Given the description of an element on the screen output the (x, y) to click on. 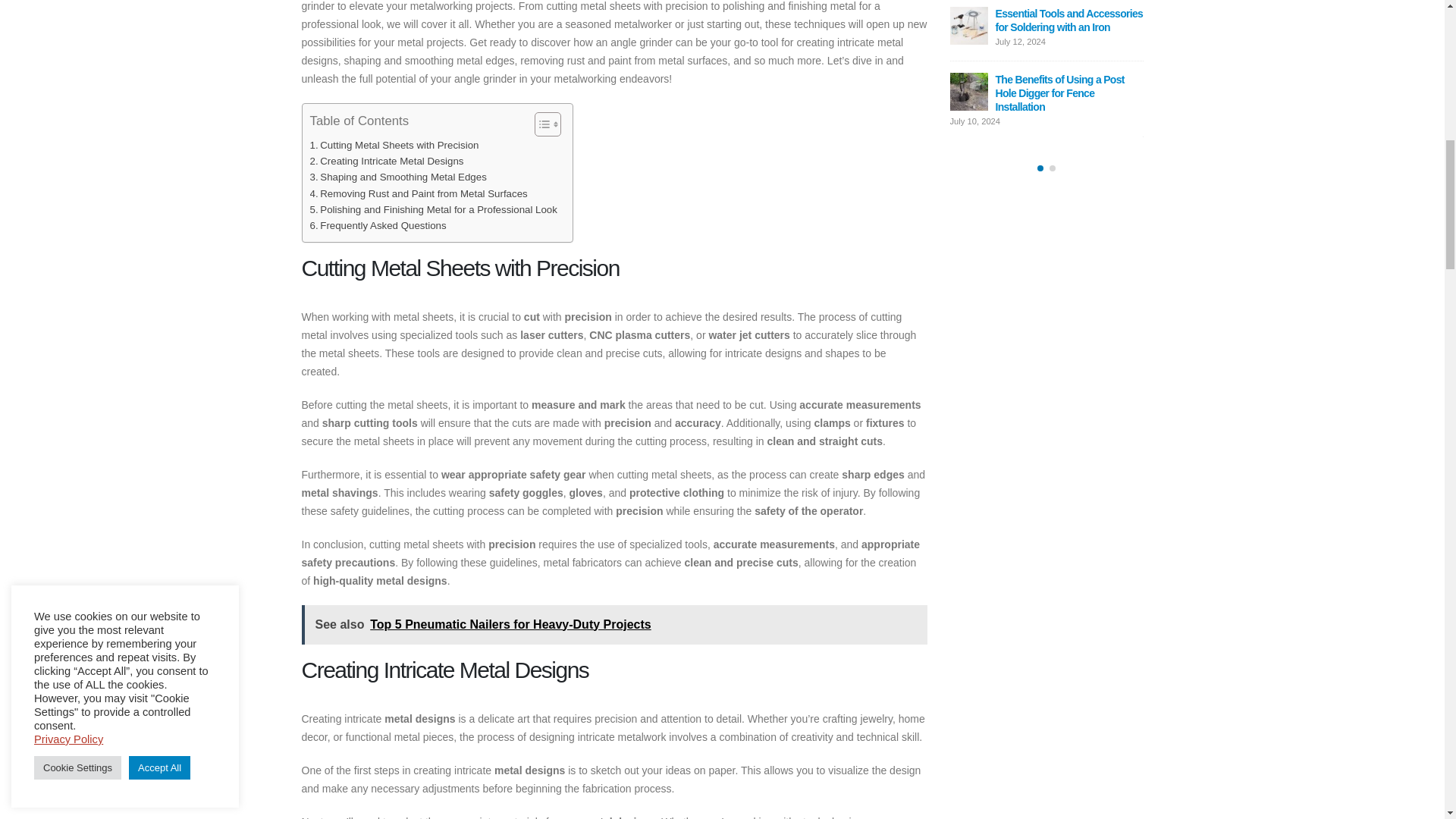
Cutting Metal Sheets with Precision (393, 145)
Removing Rust and Paint from Metal Surfaces (417, 193)
Shaping and Smoothing Metal Edges (397, 176)
Shaping and Smoothing Metal Edges (397, 176)
Cutting Metal Sheets with Precision (393, 145)
See also  Top 5 Pneumatic Nailers for Heavy-Duty Projects (614, 624)
Polishing and Finishing Metal for a Professional Look (432, 209)
Frequently Asked Questions (376, 225)
Creating Intricate Metal Designs (385, 160)
Frequently Asked Questions (376, 225)
